Given the description of an element on the screen output the (x, y) to click on. 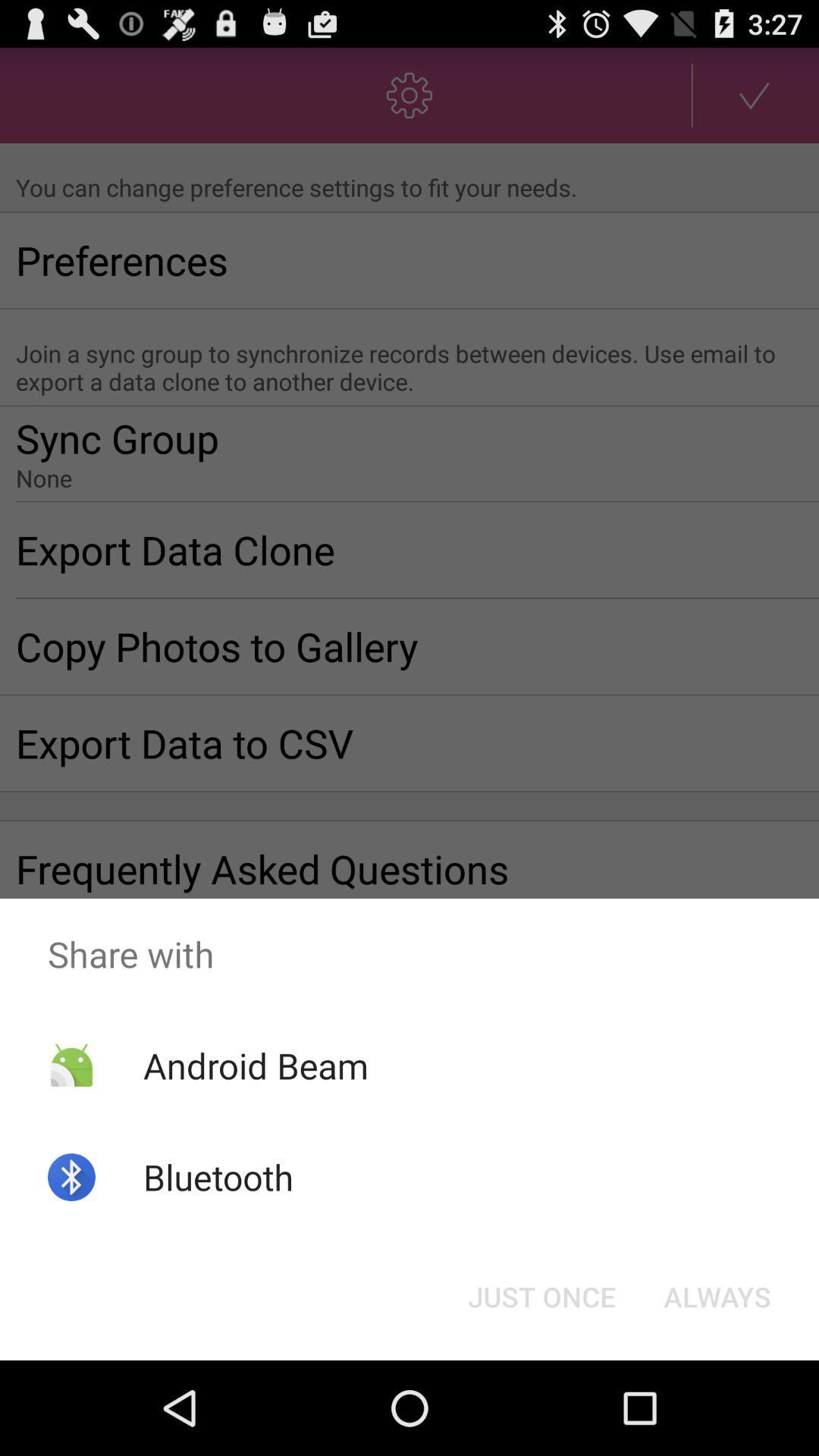
launch the always (717, 1296)
